Given the description of an element on the screen output the (x, y) to click on. 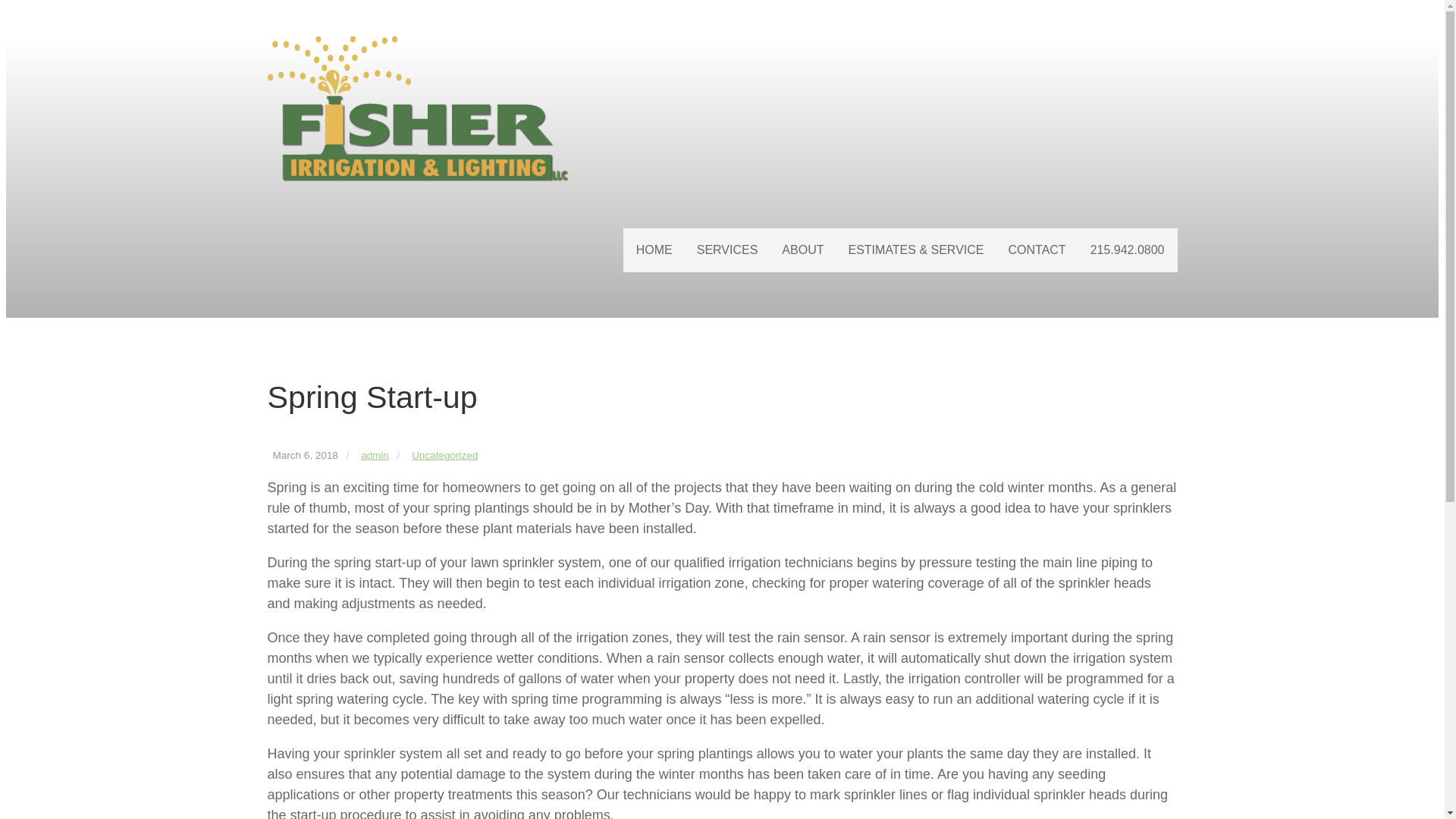
admin (374, 455)
CONTACT (1036, 250)
Uncategorized (444, 455)
Fisher Irrigation and Lighting Systems (418, 113)
View all posts by admin (374, 455)
215.942.0800 (1127, 250)
ABOUT (802, 250)
SERVICES (727, 250)
HOME (654, 250)
